Given the description of an element on the screen output the (x, y) to click on. 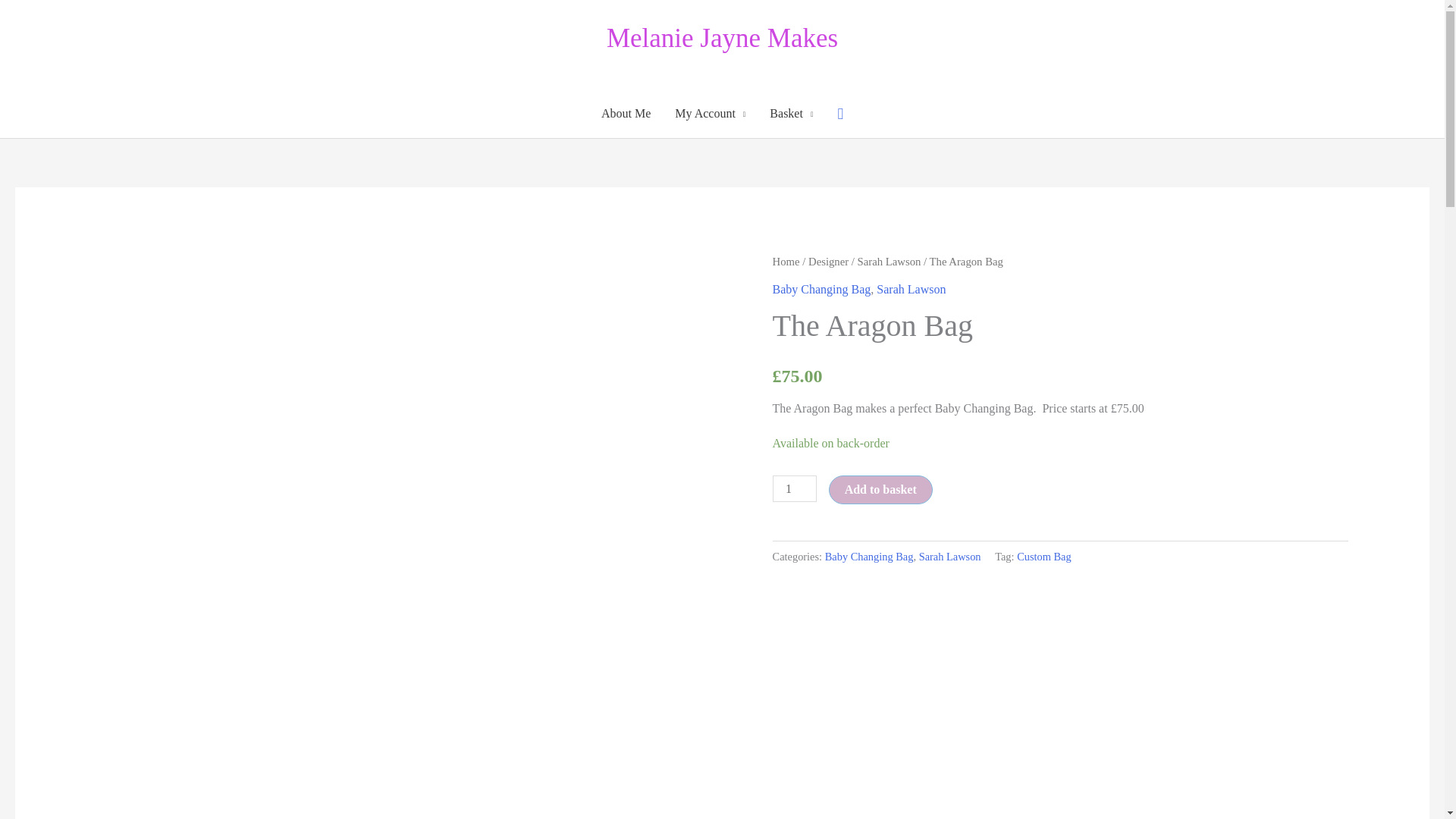
Melanie Jayne Makes (722, 38)
1 (794, 488)
Baby Changing Bag (821, 288)
My Account (709, 113)
Basket (791, 113)
About Me (625, 113)
Designer (828, 261)
Home (786, 261)
Sarah Lawson (889, 261)
